Given the description of an element on the screen output the (x, y) to click on. 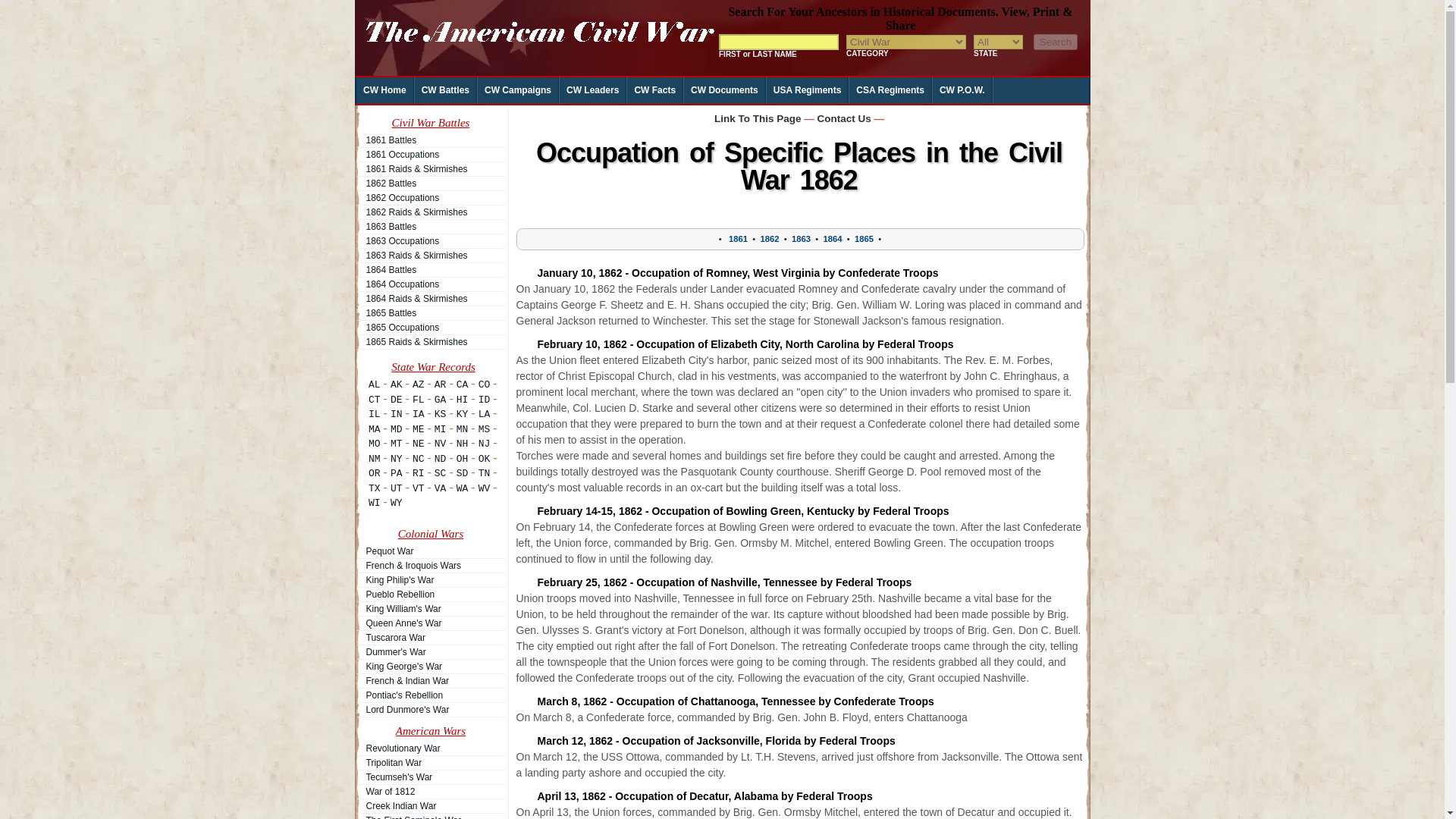
USA Regiments (807, 90)
Tecumseh's War (429, 776)
1865 Battles (429, 313)
1865 Occupations (429, 327)
1861 Battles (429, 140)
Pequot War (429, 550)
Pontiac's Rebellion (429, 694)
Dummer's War (429, 652)
Tripolitan War (429, 762)
1863 Battles (429, 226)
1864 Occupations (429, 284)
Revolutionary War (429, 748)
Lord Dunmore's War (429, 709)
CW Home (384, 90)
King William's War (429, 608)
